Given the description of an element on the screen output the (x, y) to click on. 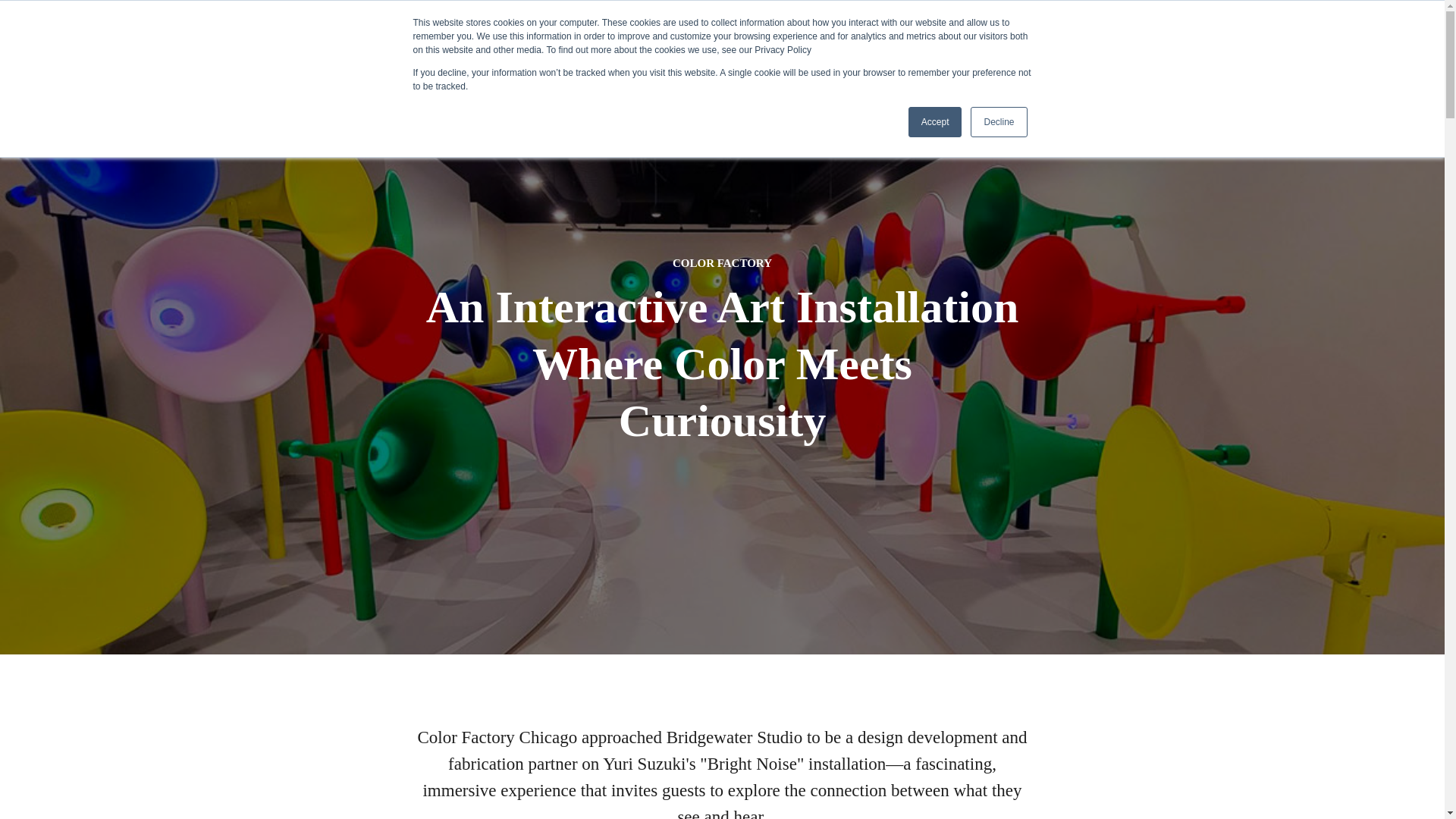
What We Do (1047, 33)
Why Bridgewater (943, 33)
Client Success (1217, 33)
Accept (935, 122)
Our Work (1130, 33)
Decline (998, 122)
